Given the description of an element on the screen output the (x, y) to click on. 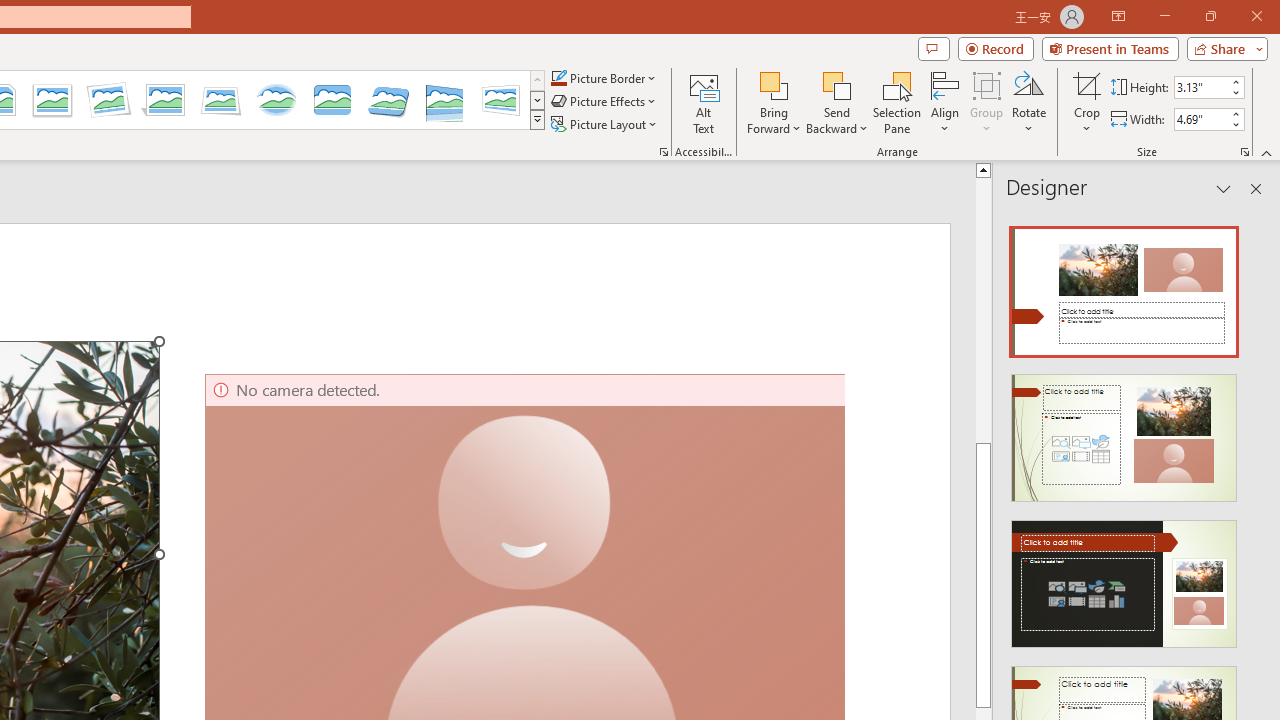
Bevel Perspective Left, White (500, 100)
Rotated, White (108, 100)
